Given the description of an element on the screen output the (x, y) to click on. 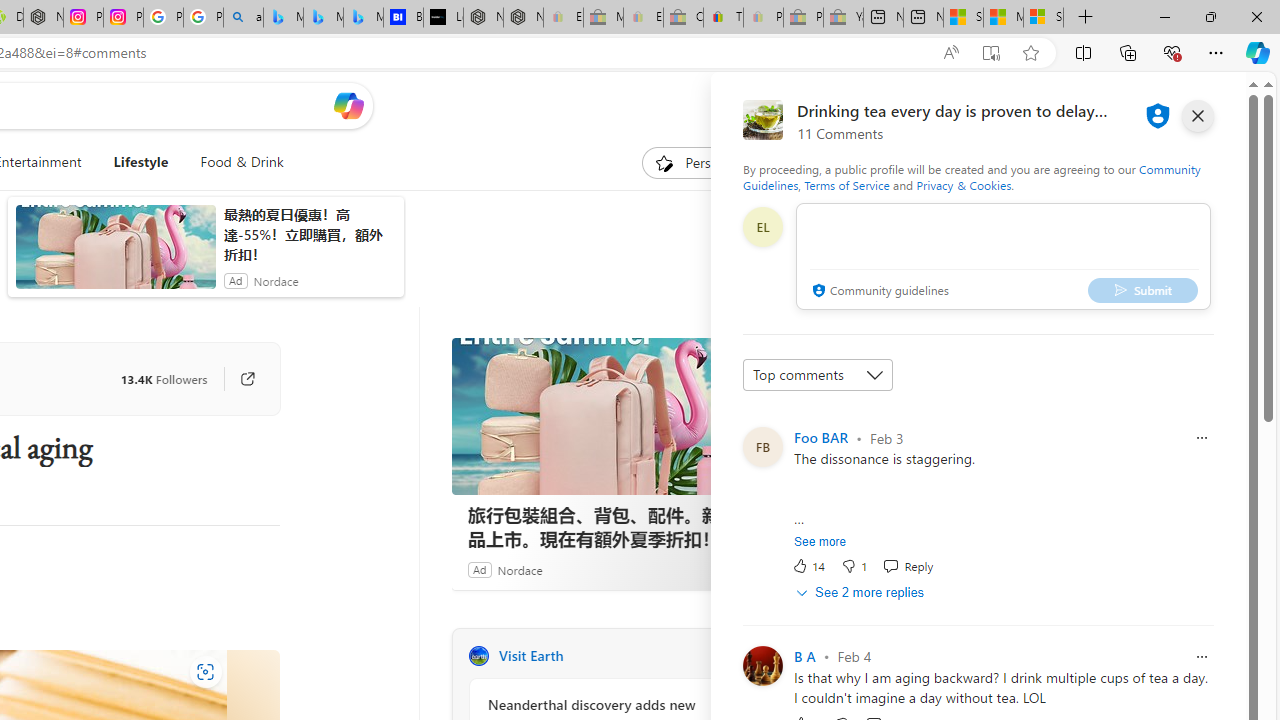
Personalize (703, 162)
Payments Terms of Use | eBay.com - Sleeping (763, 17)
Earth (478, 655)
Microsoft Start (1003, 17)
comment-box (1003, 256)
14 Like (808, 565)
See 2 more replies (861, 592)
Visit Earth website (726, 655)
Shanghai, China hourly forecast | Microsoft Weather (963, 17)
Community Guidelines (971, 176)
